Given the description of an element on the screen output the (x, y) to click on. 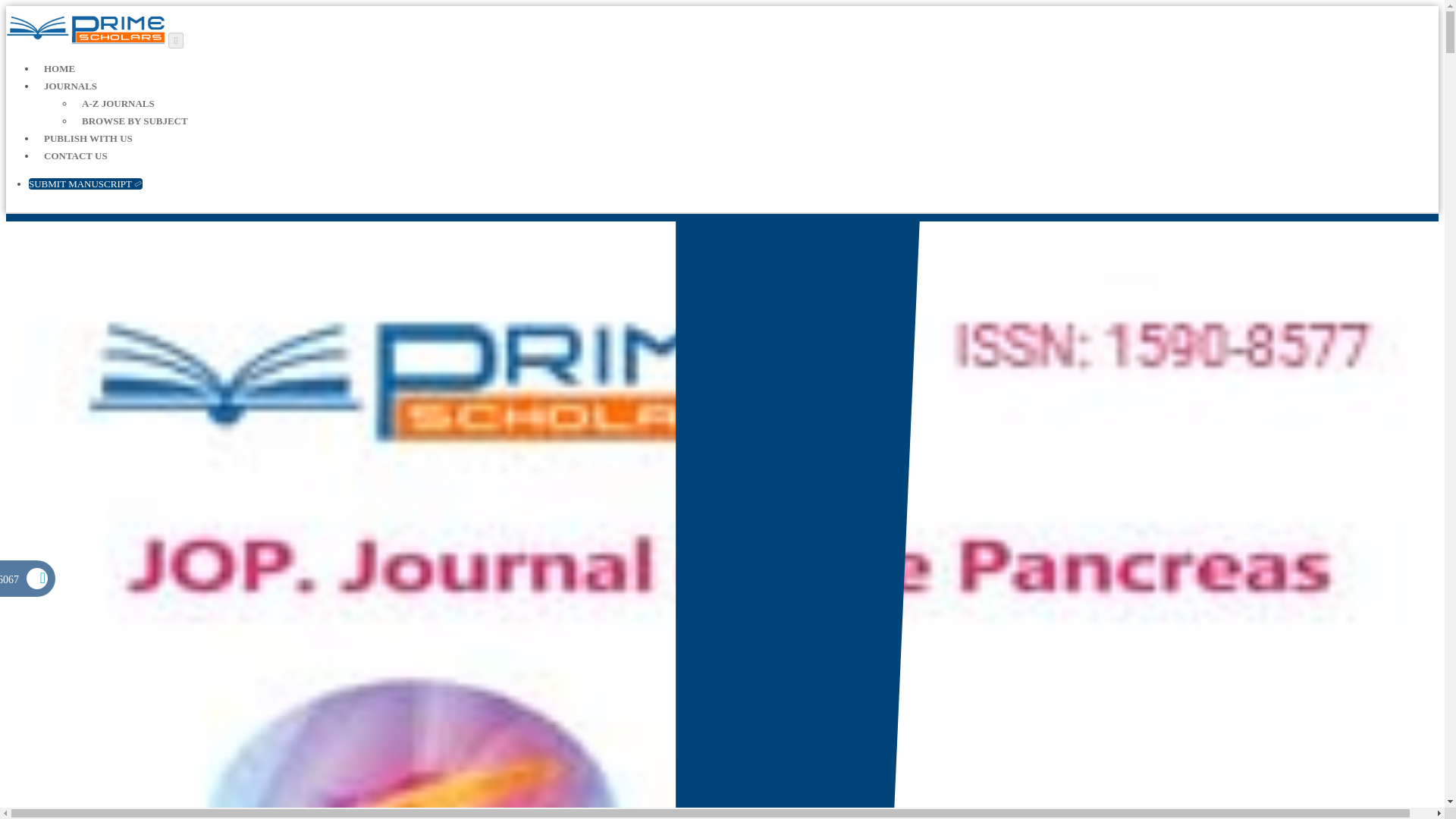
JOURNALS (70, 87)
BROWSE BY SUBJECT (134, 121)
Click here (117, 103)
SUBMIT MANUSCRIPT (85, 183)
Click here (87, 138)
Click here (134, 121)
Click here (85, 183)
HOME (59, 69)
Click here (70, 87)
Click here (75, 156)
Prime Scholars (85, 40)
Click here (59, 69)
PUBLISH WITH US (87, 138)
A-Z JOURNALS (117, 103)
CONTACT US (75, 156)
